Given the description of an element on the screen output the (x, y) to click on. 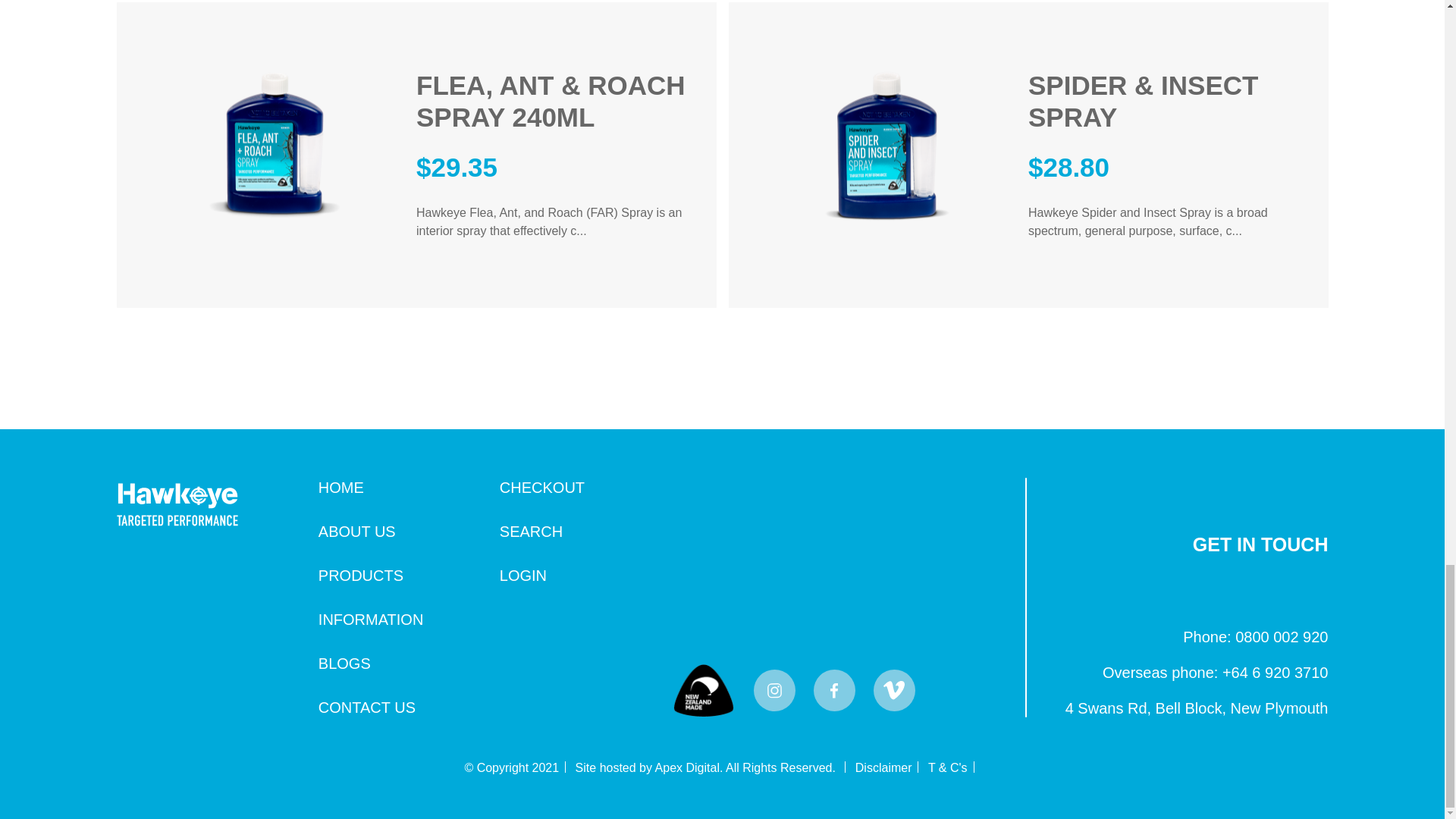
HOME (341, 487)
ABOUT US (357, 531)
CONTACT US (366, 707)
BLOGS (344, 663)
LOGIN (523, 575)
CHECKOUT (542, 487)
INFORMATION (370, 619)
PRODUCTS (360, 575)
SEARCH (530, 531)
